Given the description of an element on the screen output the (x, y) to click on. 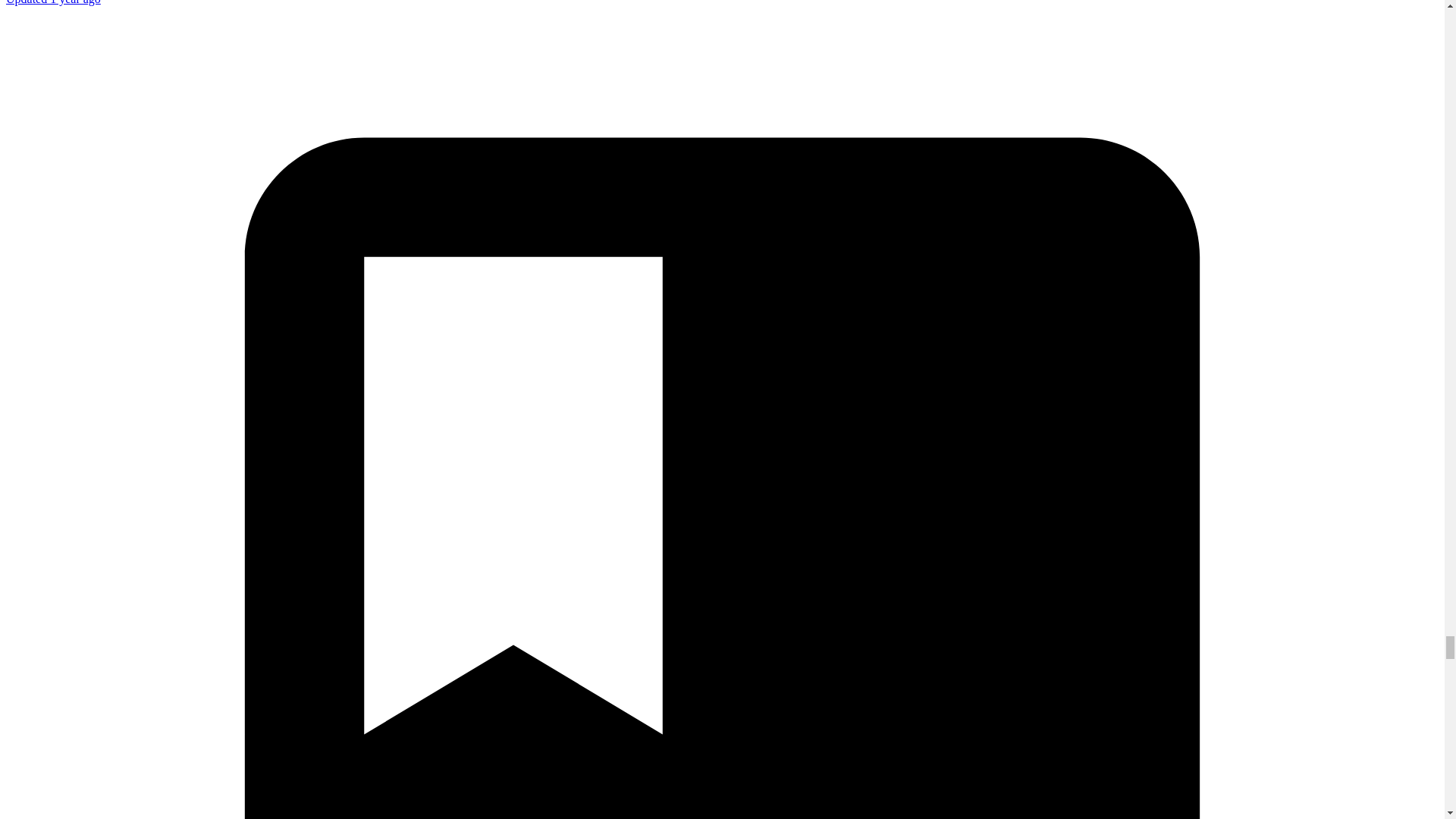
Sun, Nov 13, 2022 2:52 PM (52, 2)
